Given the description of an element on the screen output the (x, y) to click on. 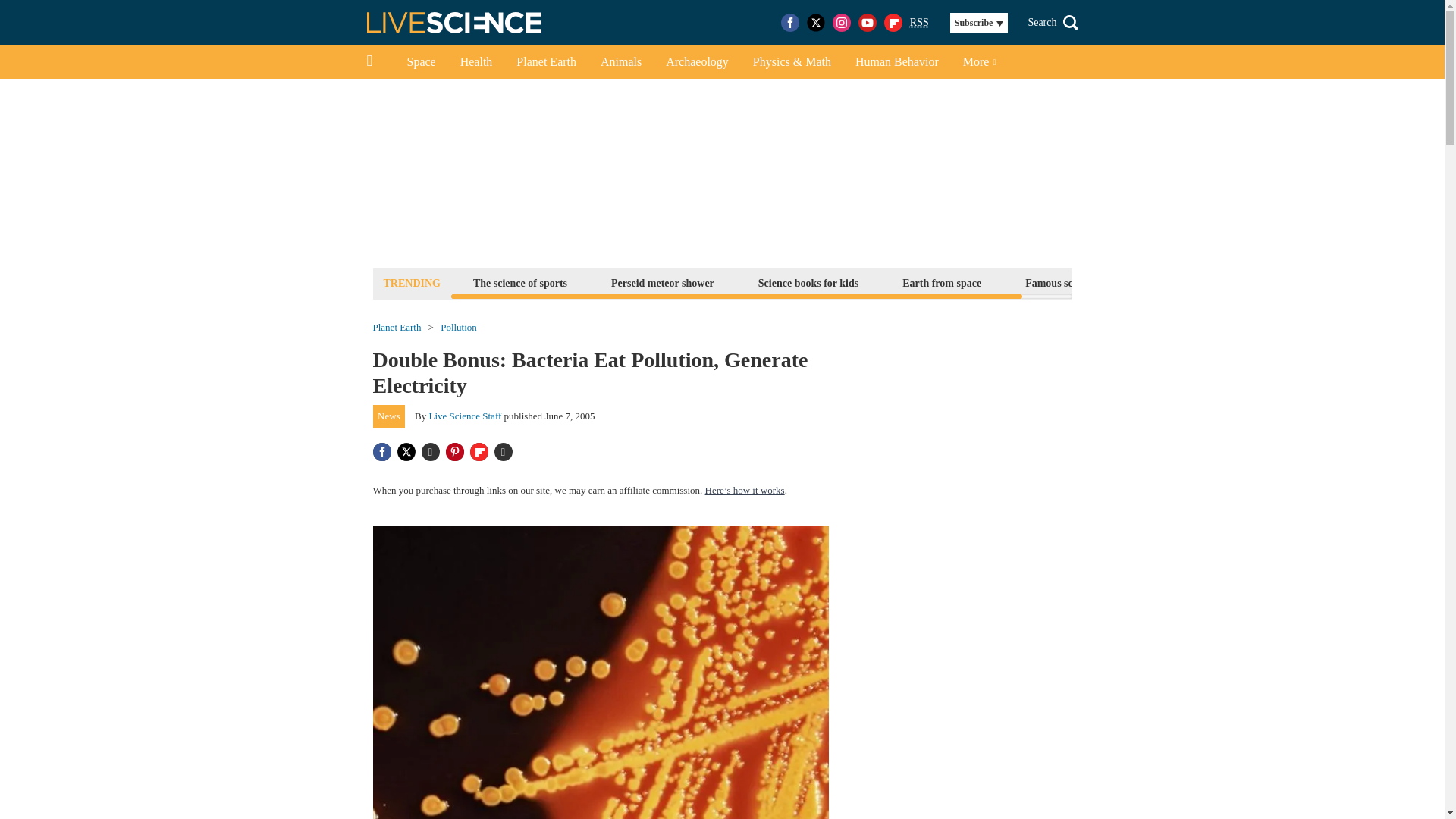
Space (420, 61)
Science books for kids (807, 282)
The science of sports (519, 282)
RSS (919, 22)
Live Science Staff (465, 415)
Perseid meteor shower (662, 282)
Really Simple Syndication (919, 21)
Health (476, 61)
Planet Earth (545, 61)
Archaeology (697, 61)
